Given the description of an element on the screen output the (x, y) to click on. 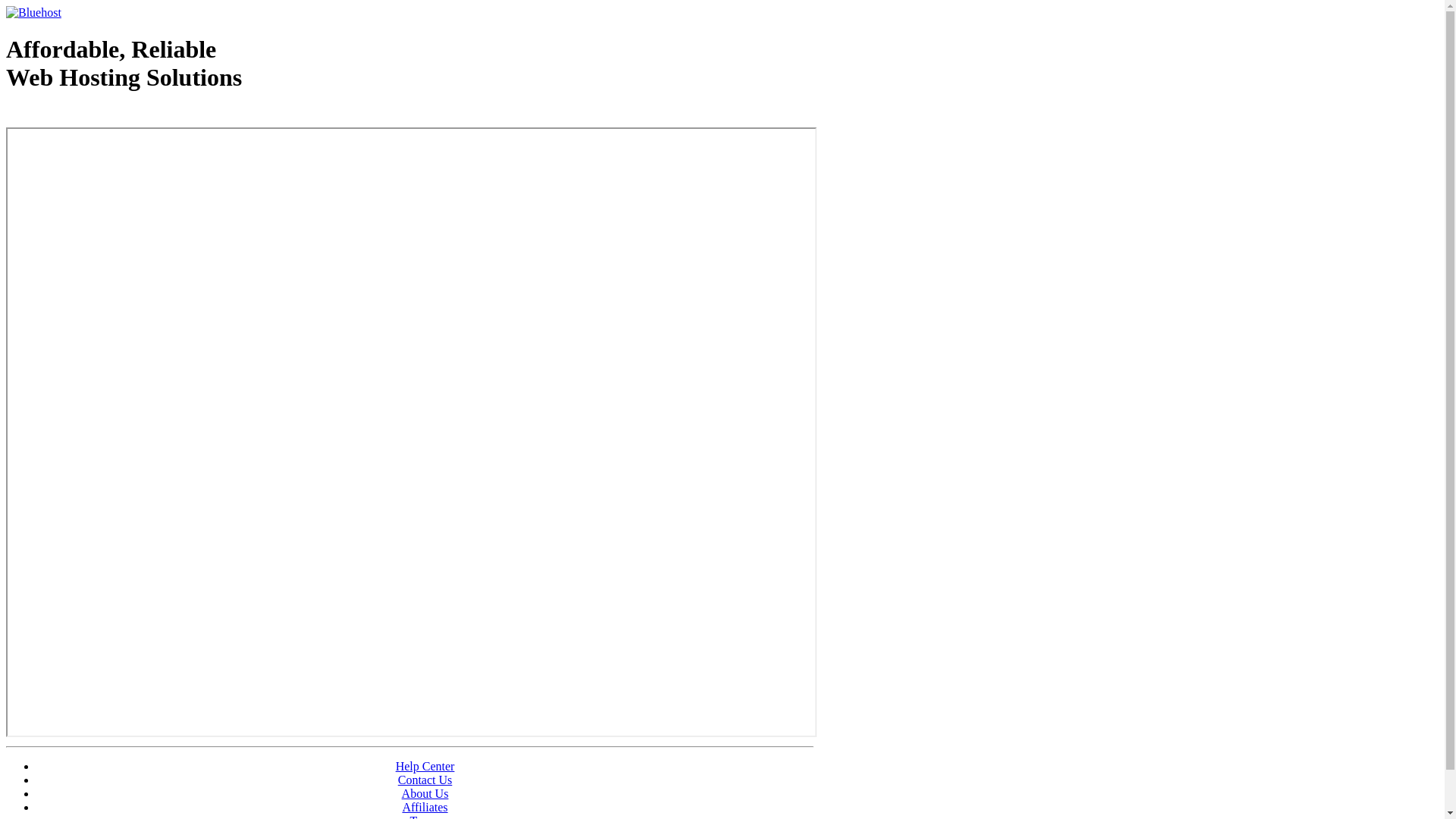
Affiliates Element type: text (424, 806)
About Us Element type: text (424, 793)
Help Center Element type: text (425, 765)
Web Hosting - courtesy of www.bluehost.com Element type: text (94, 115)
Contact Us Element type: text (425, 779)
